Given the description of an element on the screen output the (x, y) to click on. 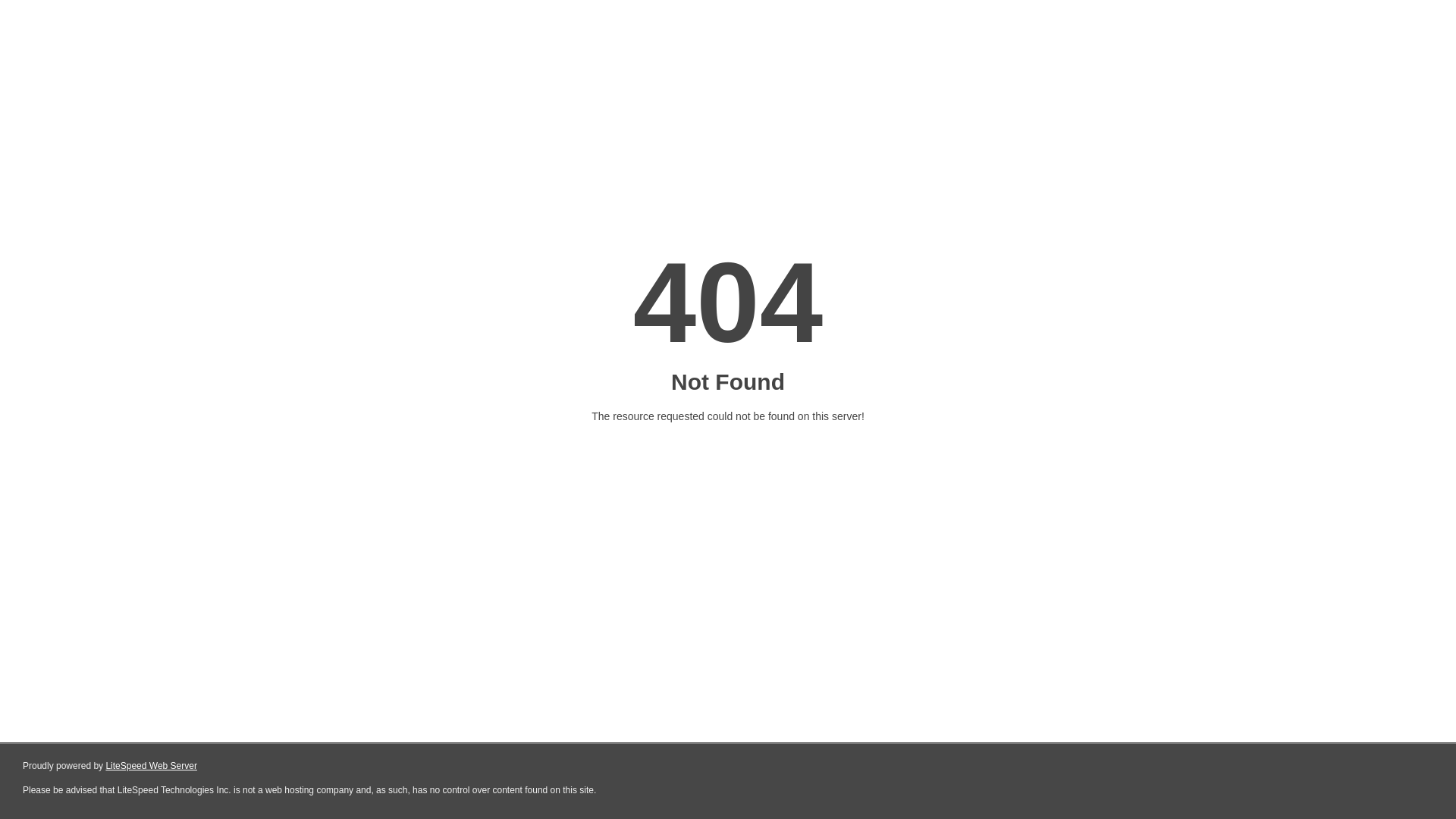
LiteSpeed Web Server Element type: text (151, 765)
